Given the description of an element on the screen output the (x, y) to click on. 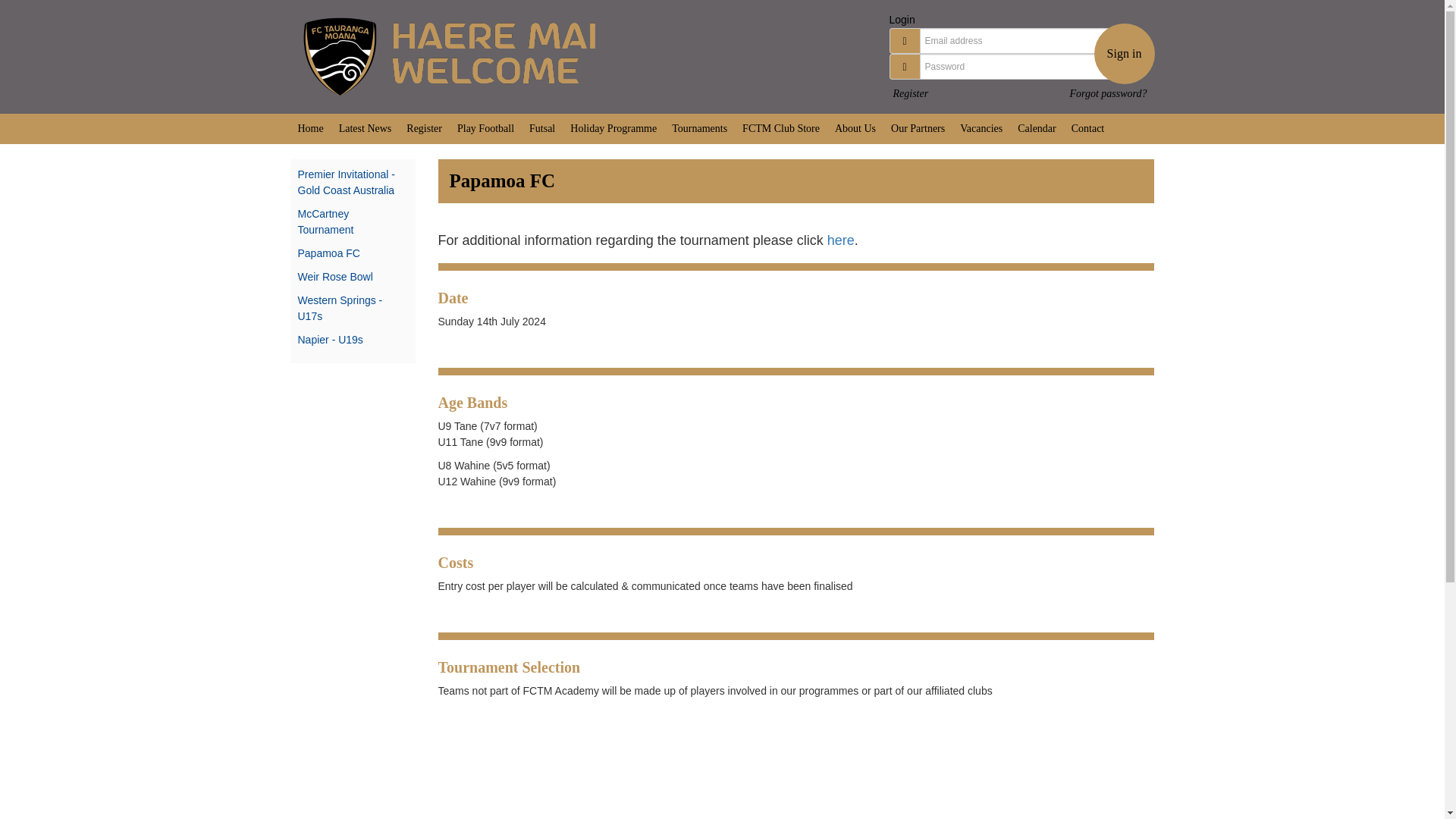
Our Partners (917, 128)
Home (309, 128)
About Us (855, 128)
FCTM Club Store (781, 128)
Contact (1088, 128)
Weir Rose Bowl (334, 276)
Register (910, 93)
Latest News (364, 128)
Tournaments (699, 128)
Papamoa FC (328, 253)
